Given the description of an element on the screen output the (x, y) to click on. 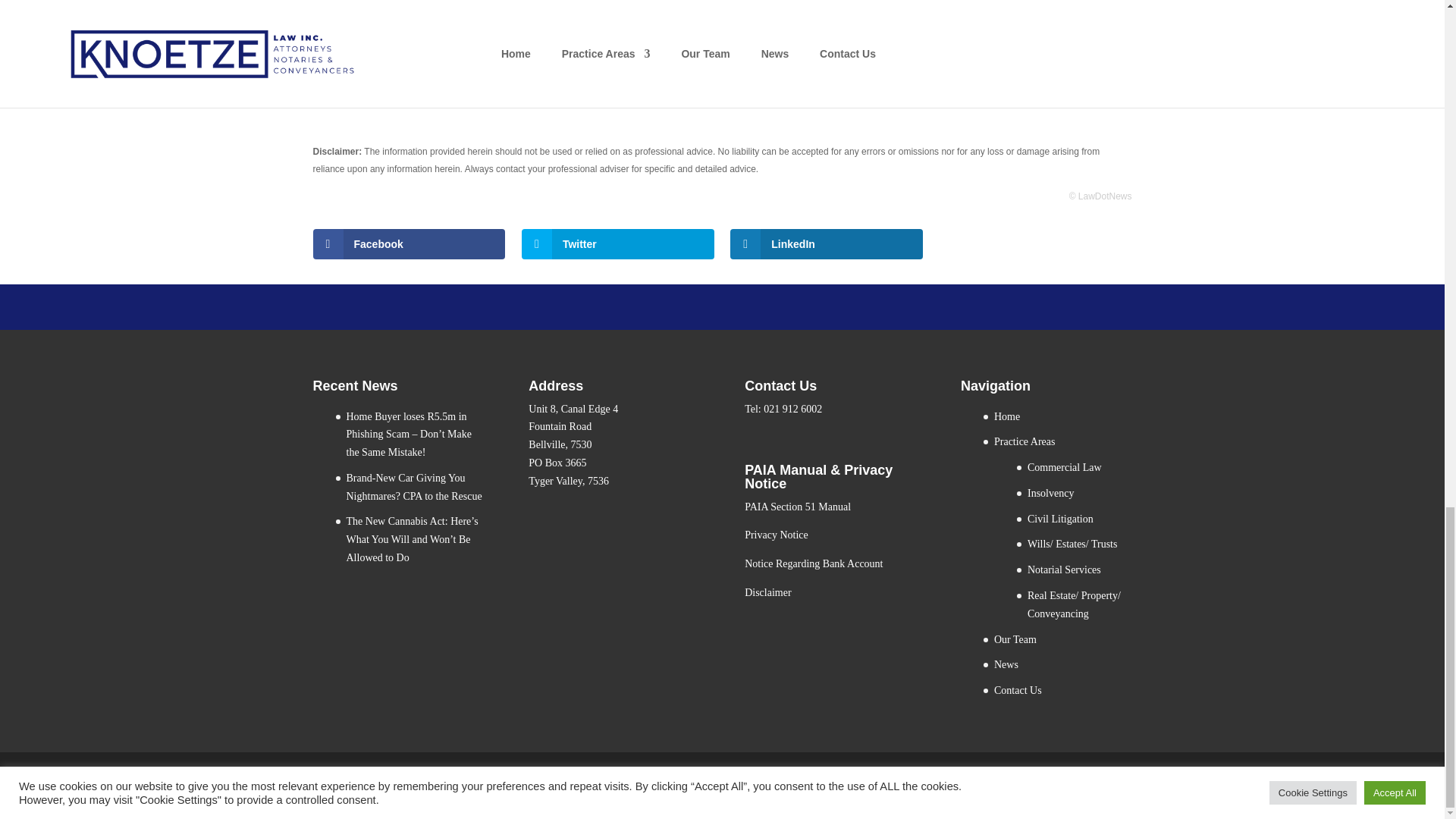
Facebook (409, 244)
Twitter (617, 244)
LinkedIn (826, 244)
Practice Areas (1024, 441)
Home (1007, 416)
Disclaimer (767, 592)
Commercial Law (1064, 467)
Brand-New Car Giving You Nightmares? CPA to the Rescue (413, 487)
Notice Regarding Bank Account (813, 563)
PAIA Section 51 Manual (797, 506)
Privacy Notice (776, 534)
021 912 6002 (792, 408)
